Given the description of an element on the screen output the (x, y) to click on. 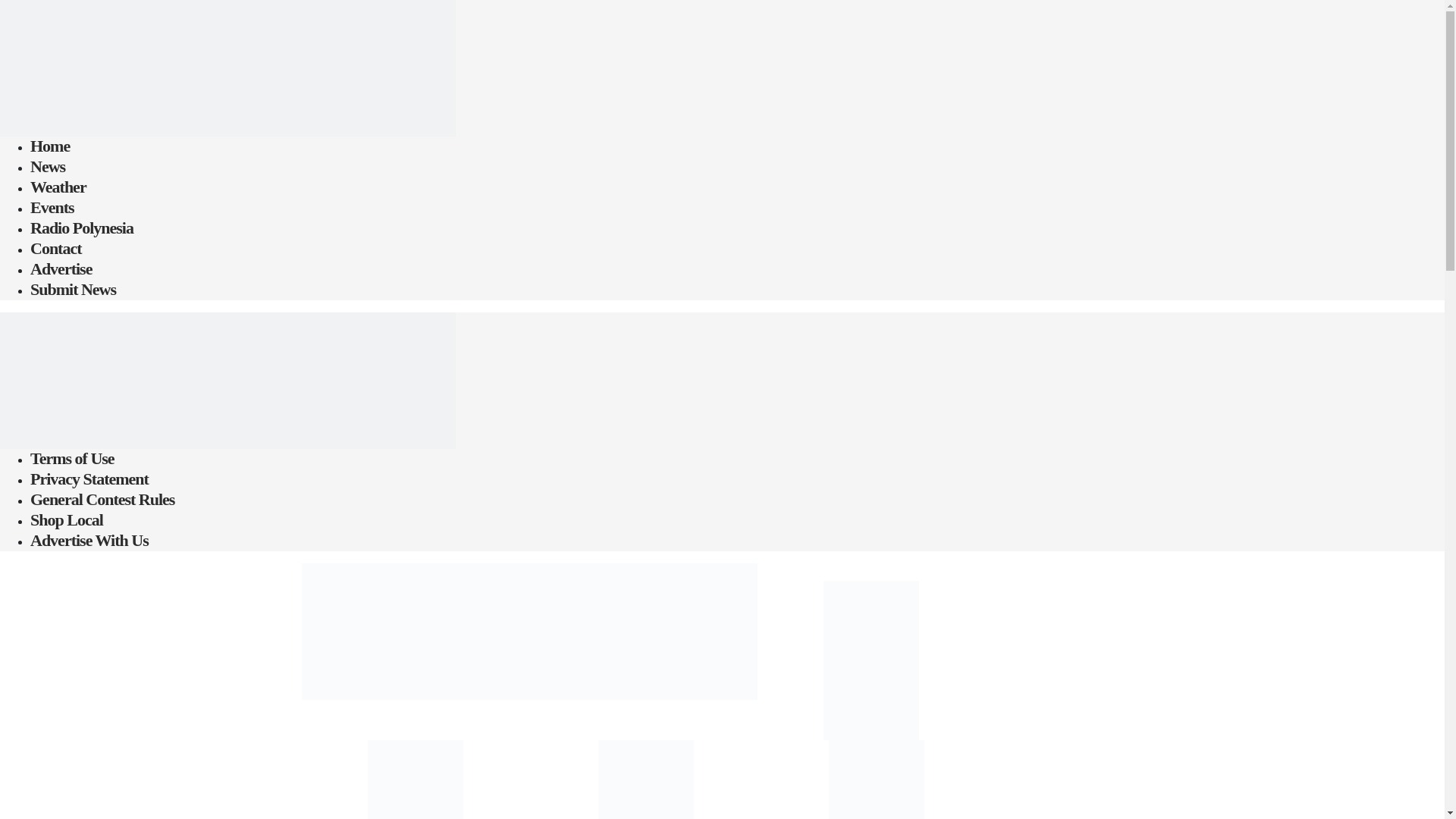
Radio Polynesia Samoa (227, 66)
Radio Polynesia (81, 227)
Radio Polynesia Samoa (227, 379)
News (47, 166)
Weather (57, 186)
Terms of Use (72, 457)
Advertise With Us (89, 539)
Shop Local (66, 519)
Events (52, 207)
Advertise (60, 268)
Contact (55, 248)
Privacy Statement (89, 478)
Submit News (73, 289)
General Contest Rules (102, 498)
Home (49, 145)
